Given the description of an element on the screen output the (x, y) to click on. 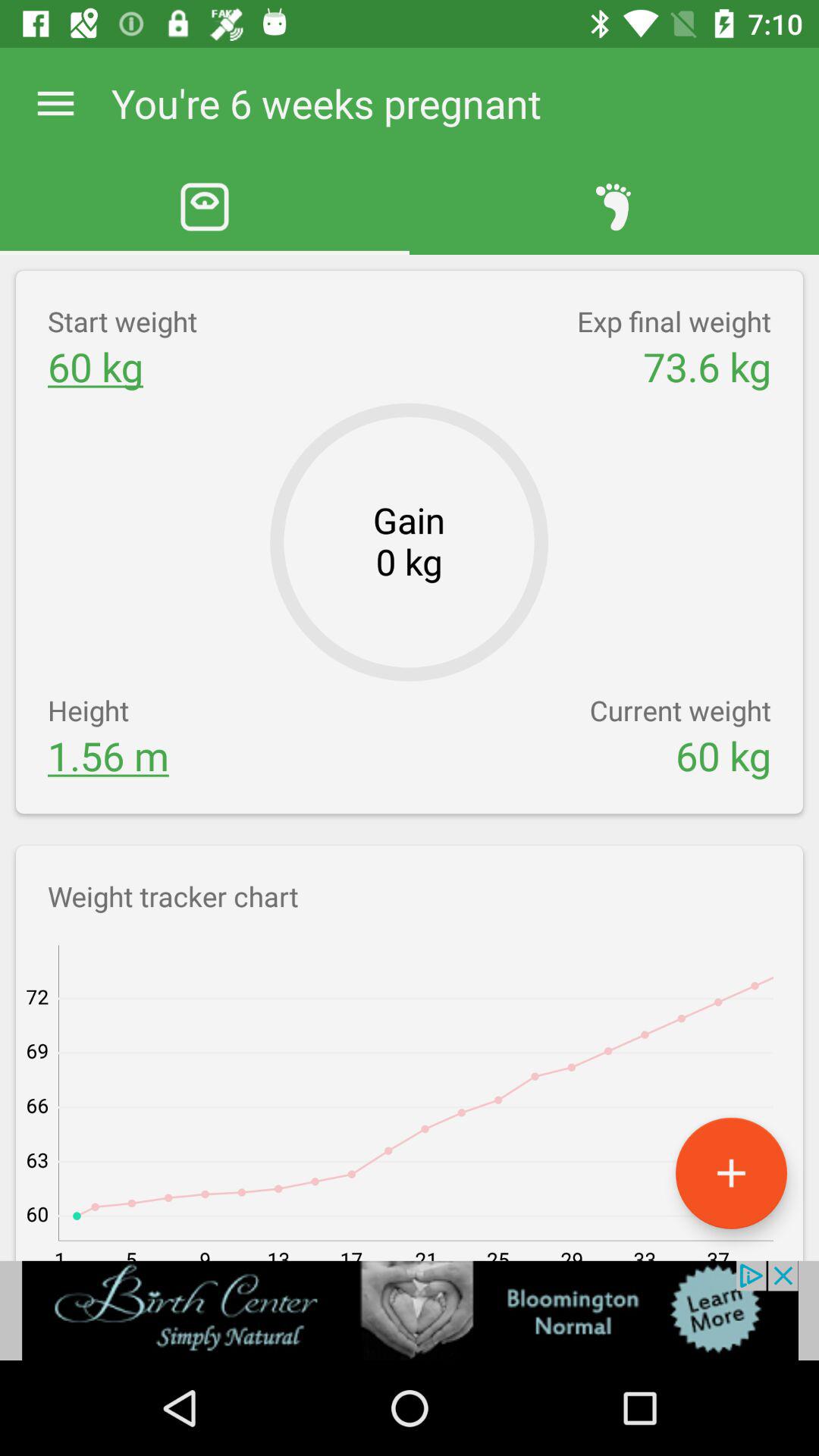
icon (731, 1173)
